Given the description of an element on the screen output the (x, y) to click on. 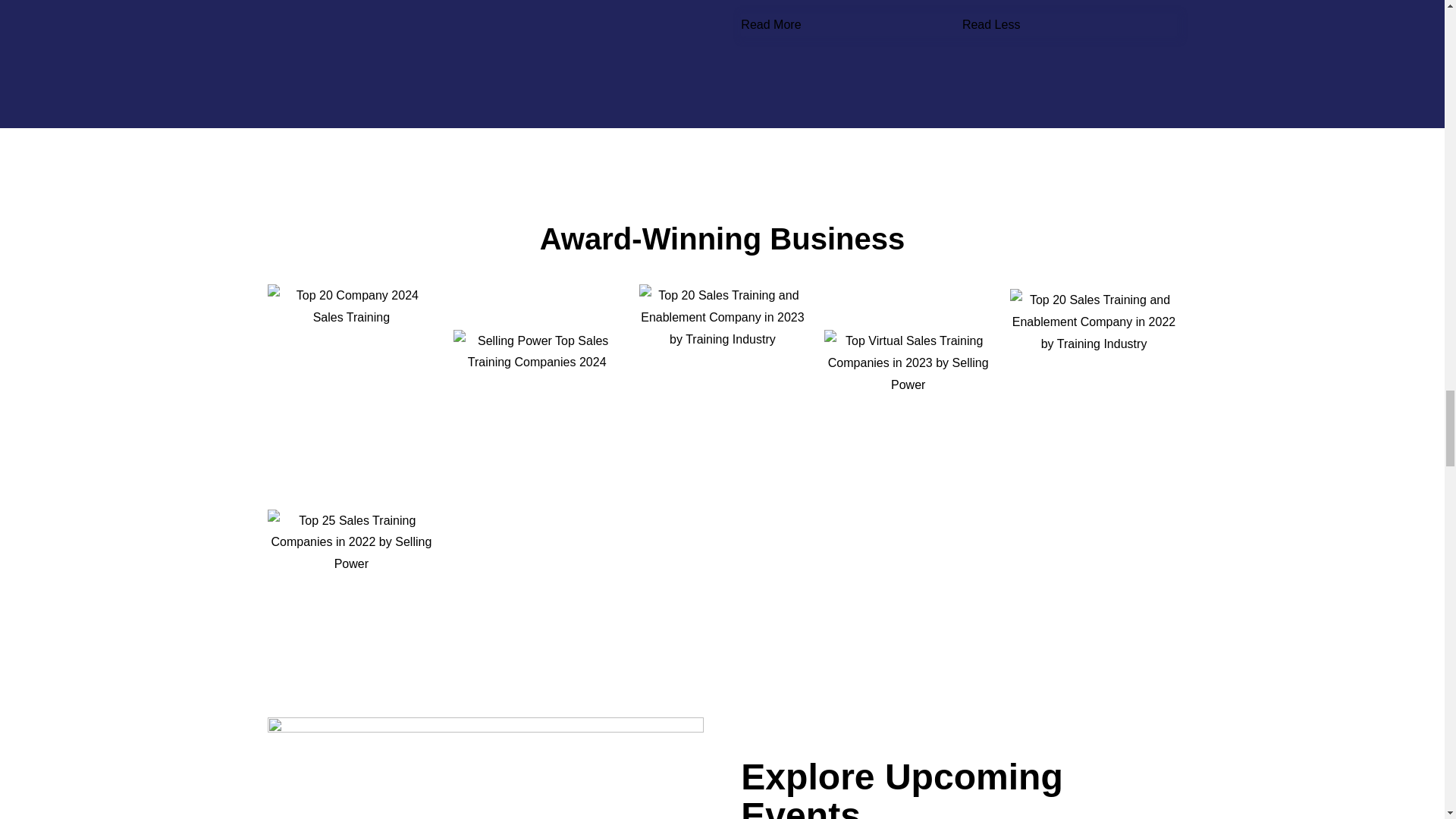
Selling Power Top Sales Training Companies 2024 (536, 387)
Top 25 Sales Training Companies in 2022 by Selling Power (351, 566)
Close (1170, 24)
More (949, 24)
